Given the description of an element on the screen output the (x, y) to click on. 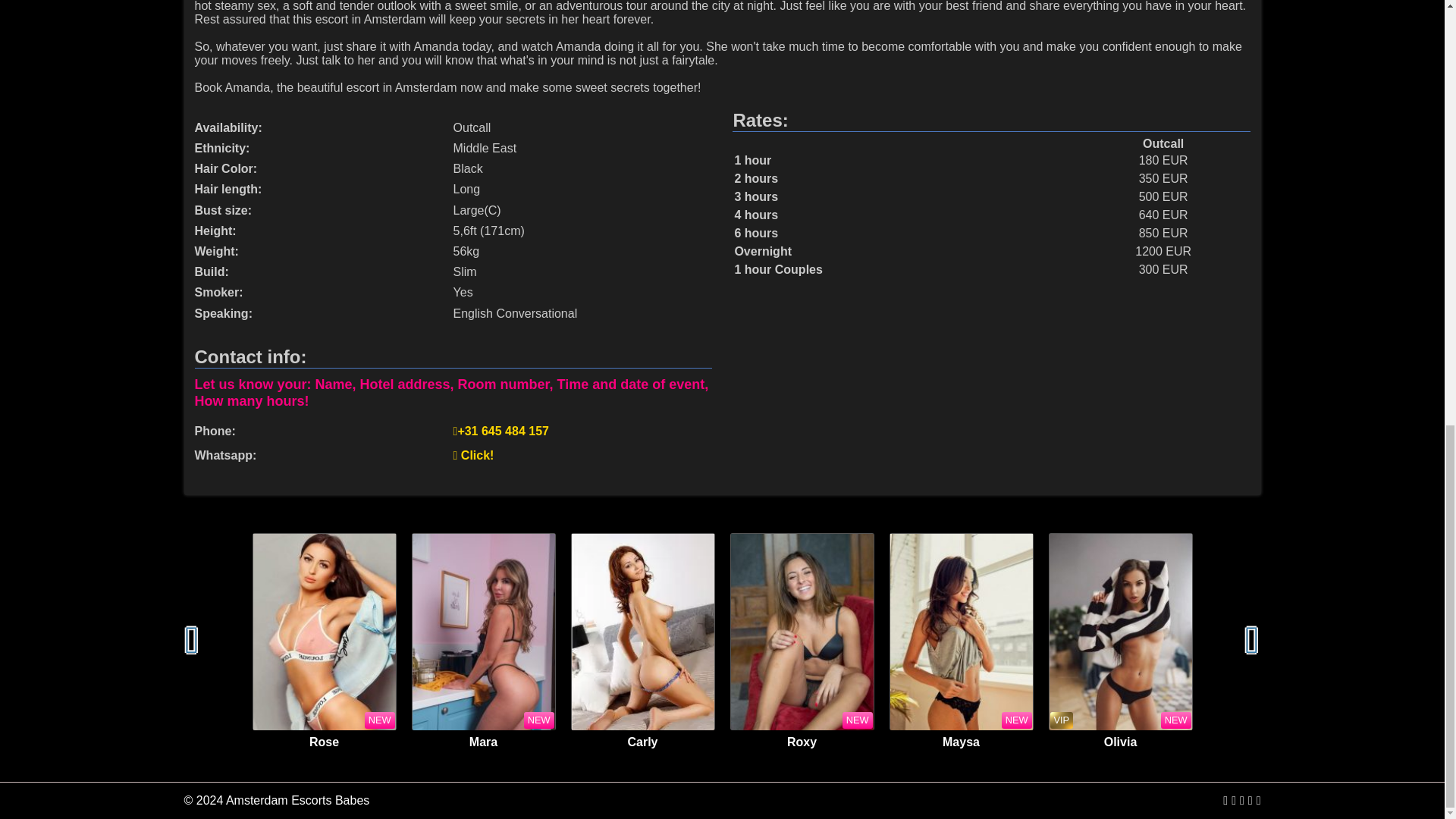
Rose (323, 741)
Carly (642, 741)
Click! (473, 454)
Carly (642, 631)
Mara (482, 741)
Roxy (801, 631)
Rose (323, 631)
Mara (482, 631)
